Given the description of an element on the screen output the (x, y) to click on. 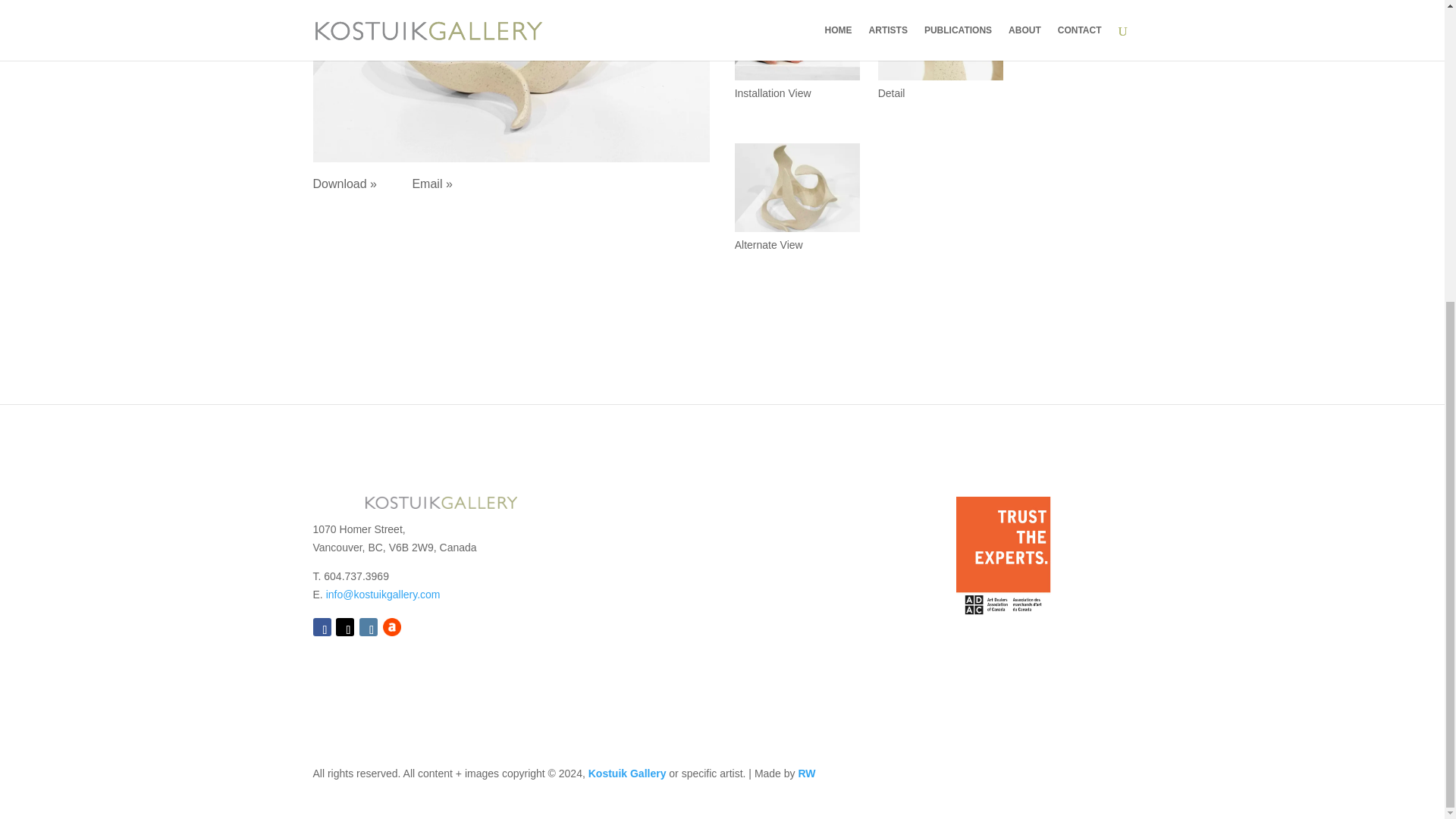
Alternate View (797, 232)
RW (806, 773)
Installation View (797, 80)
Follow on Facebook (321, 627)
Detail (940, 80)
Follow on Instagram (368, 627)
Email (383, 594)
Follow on RSS (391, 627)
Kostuik Gallery (627, 773)
Follow on Twitter (344, 627)
